Given the description of an element on the screen output the (x, y) to click on. 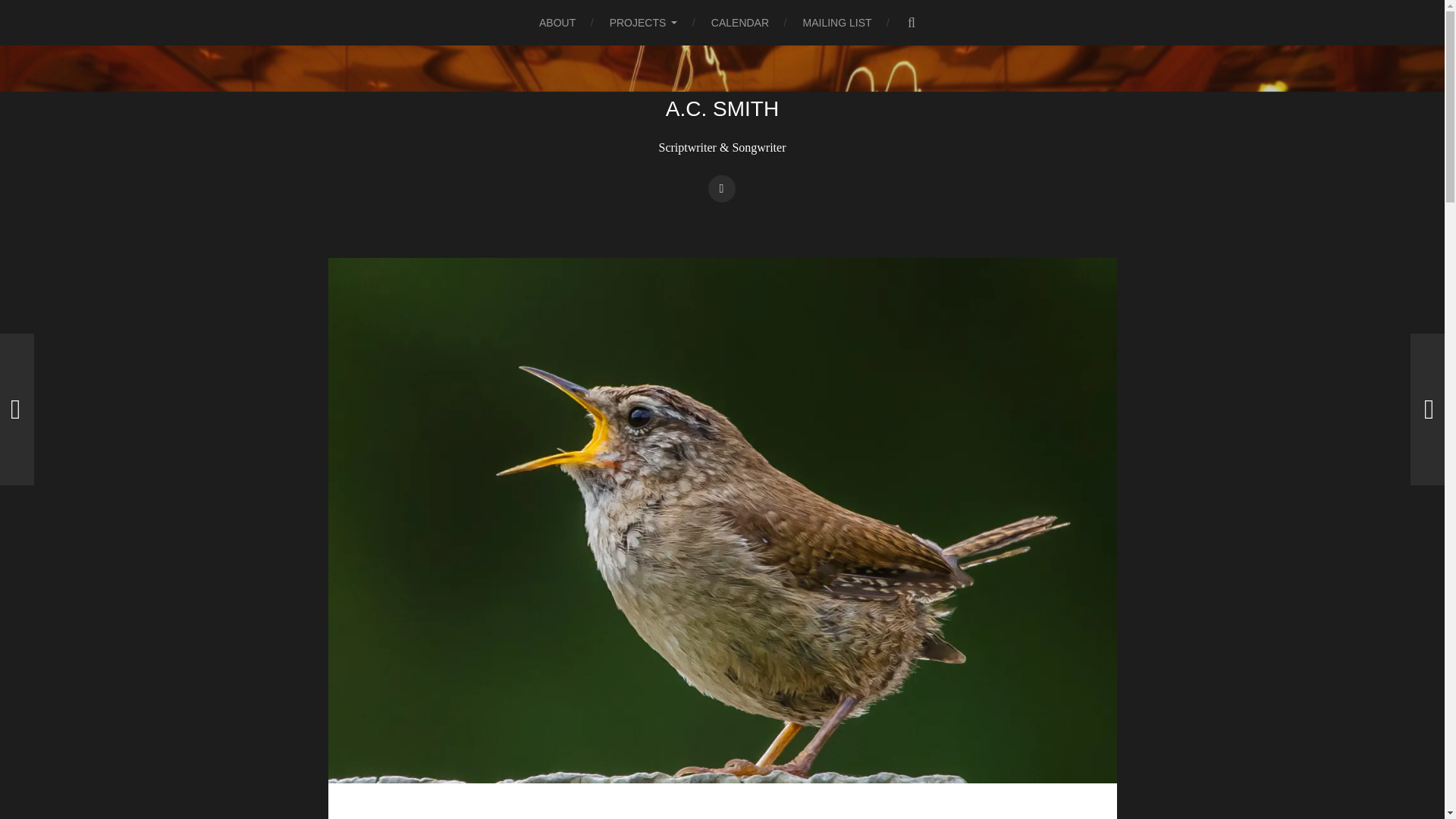
MAILING LIST (837, 22)
A.C. SMITH (721, 108)
PROJECTS (644, 22)
CALENDAR (739, 22)
